Given the description of an element on the screen output the (x, y) to click on. 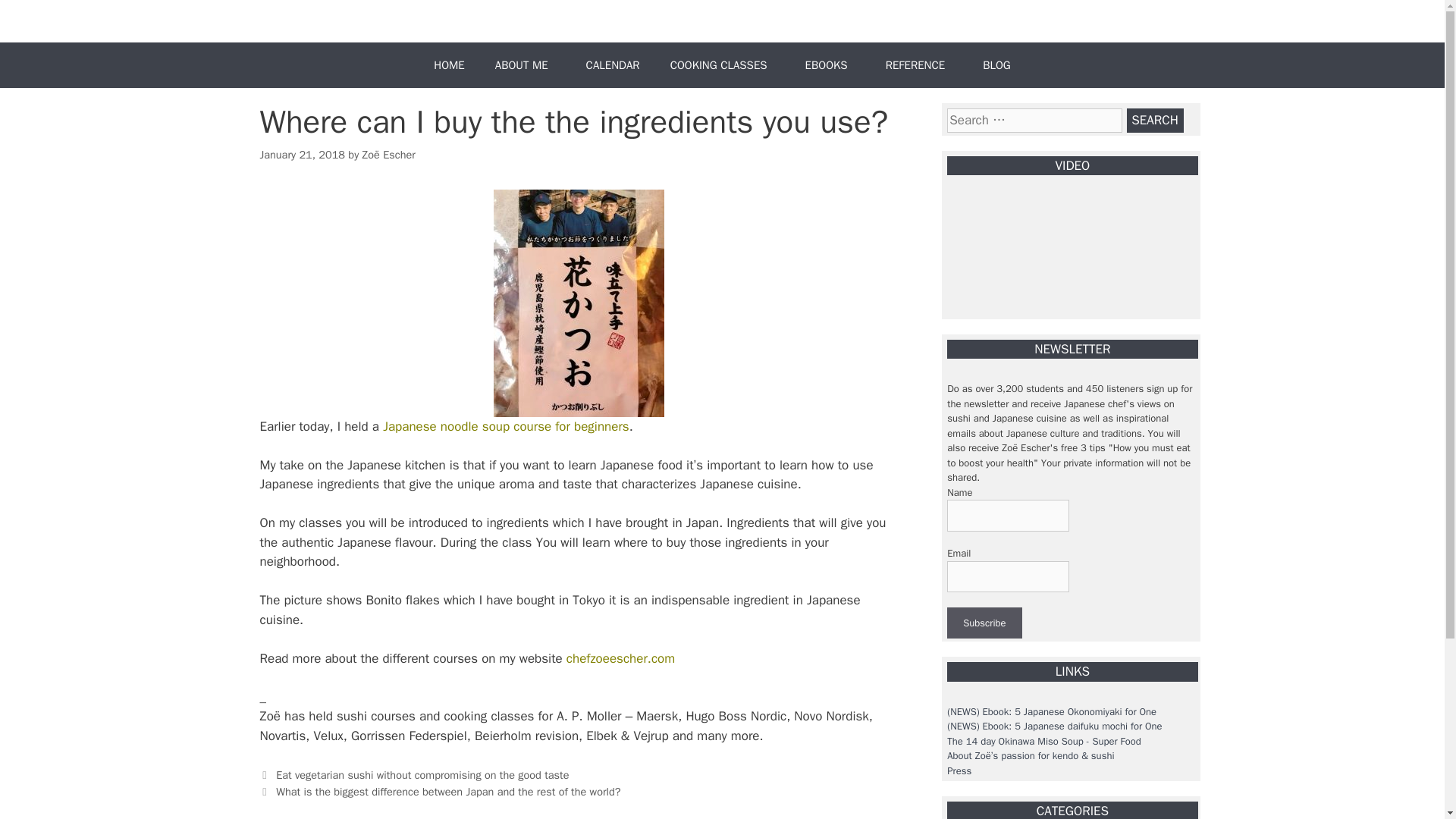
Search (1154, 120)
chefzoeescher.com (620, 658)
EBOOKS (830, 64)
HOME (449, 64)
CALENDAR (612, 64)
Japanese noodle soup course for beginners (505, 426)
BLOG (997, 64)
Search for: (1034, 120)
COOKING CLASSES (722, 64)
Search (1154, 120)
